Given the description of an element on the screen output the (x, y) to click on. 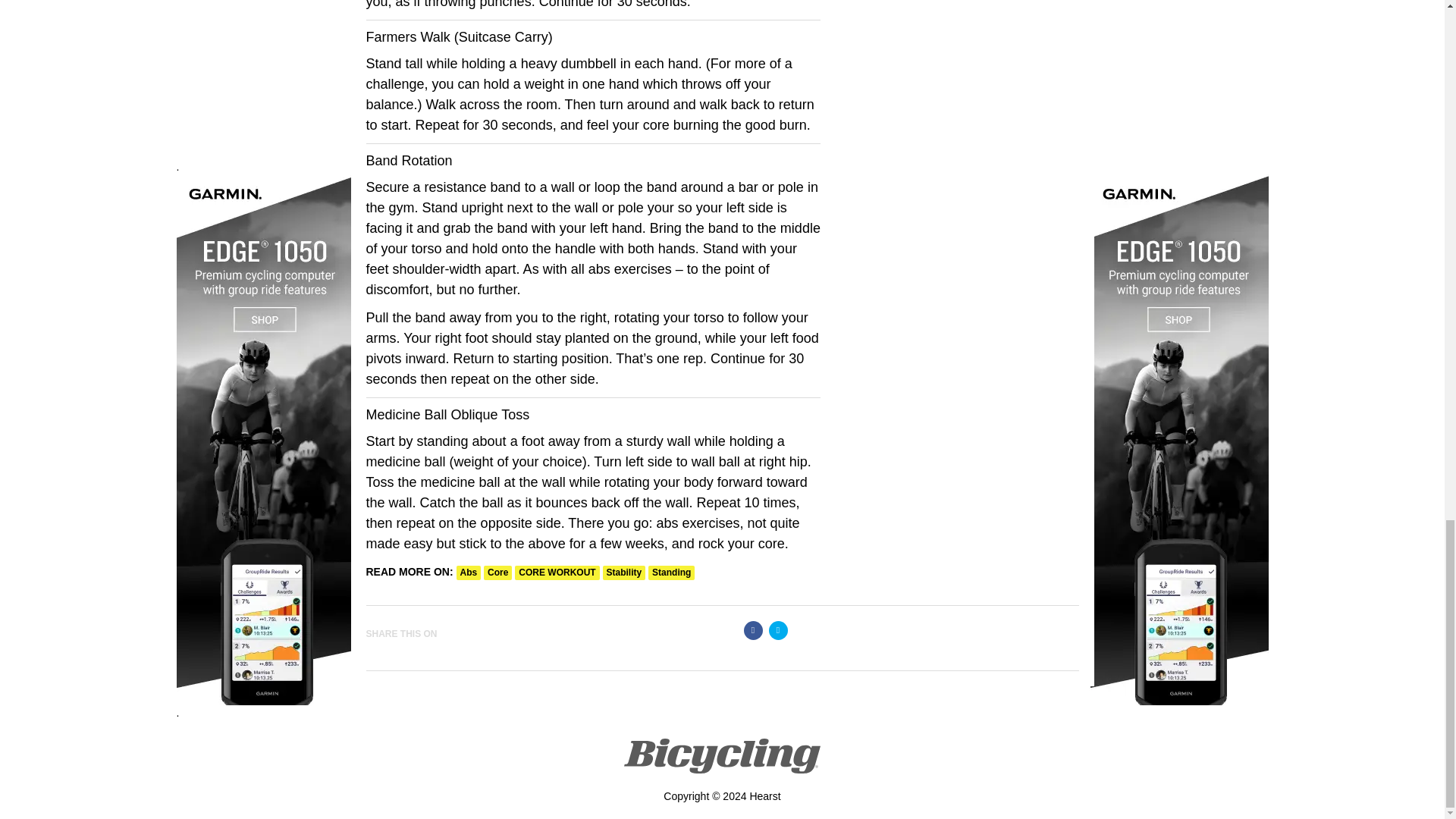
Abs (469, 572)
standing (670, 572)
abs (469, 572)
Stability (624, 572)
Standing (670, 572)
Core (497, 572)
CORE WORKOUT (556, 572)
CORE WORKOUT (556, 572)
stability (624, 572)
core (497, 572)
